Given the description of an element on the screen output the (x, y) to click on. 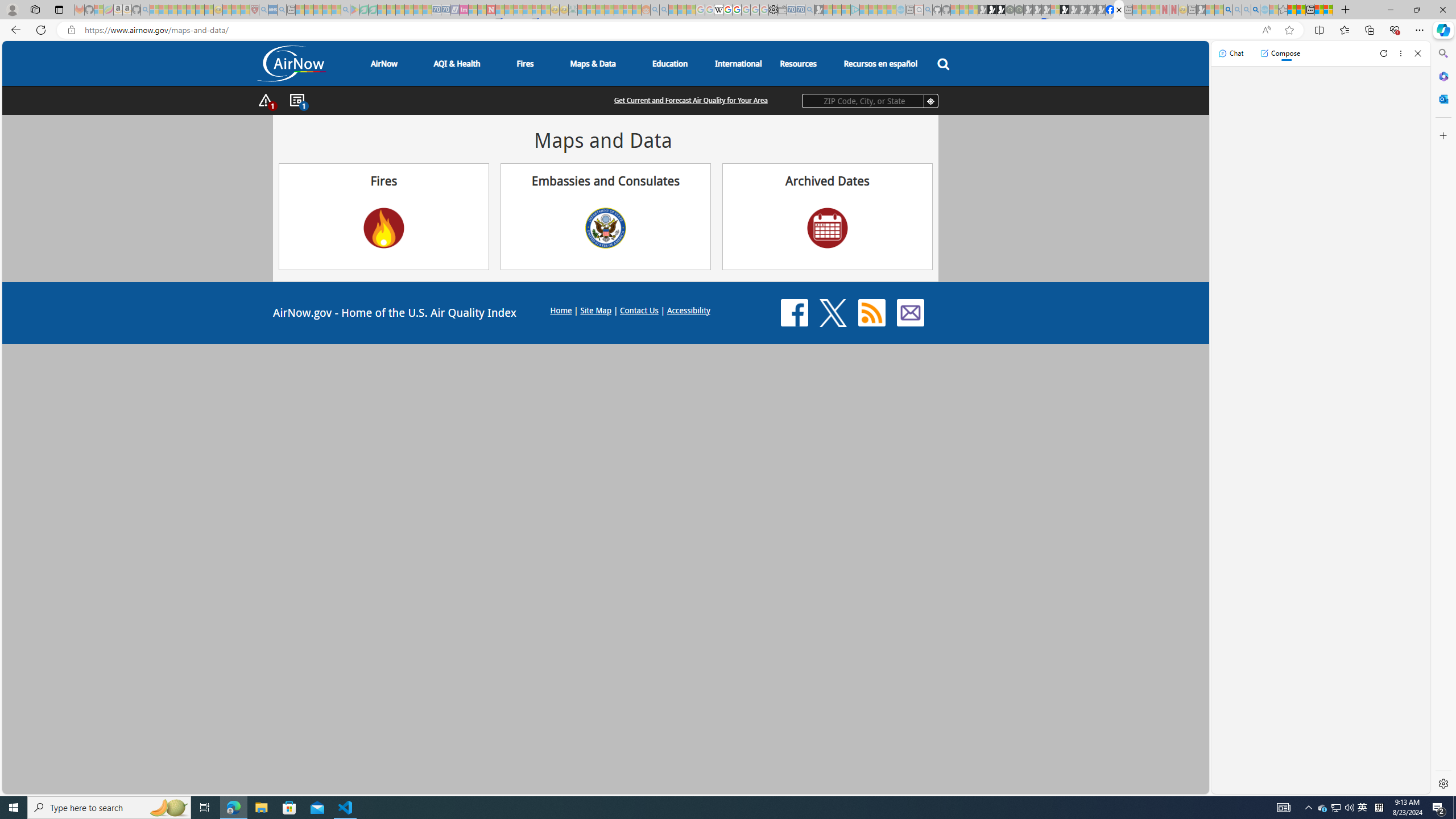
Google Chrome Internet Browser Download - Search Images (1255, 9)
Nordace | Facebook (1109, 9)
ZIP Code, City, or State (870, 100)
AutomationID: nav-alerts-toggle (266, 100)
